Given the description of an element on the screen output the (x, y) to click on. 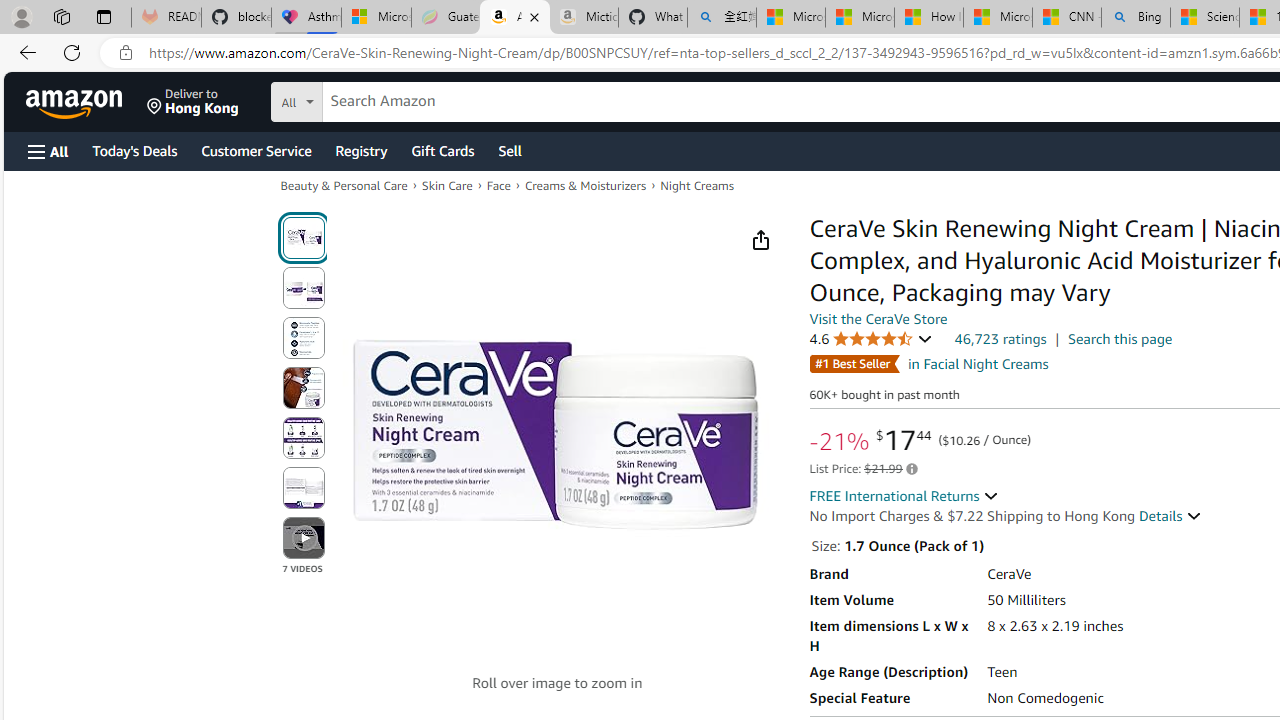
Skip to main content (86, 100)
Gift Cards (442, 150)
Skin Care (447, 184)
Visit the CeraVe Store (878, 319)
Beauty & Personal Care (344, 184)
Creams & Moisturizers (584, 185)
Amazon (76, 101)
Search in (371, 99)
4.6 4.6 out of 5 stars (870, 339)
Open Menu (48, 151)
